Given the description of an element on the screen output the (x, y) to click on. 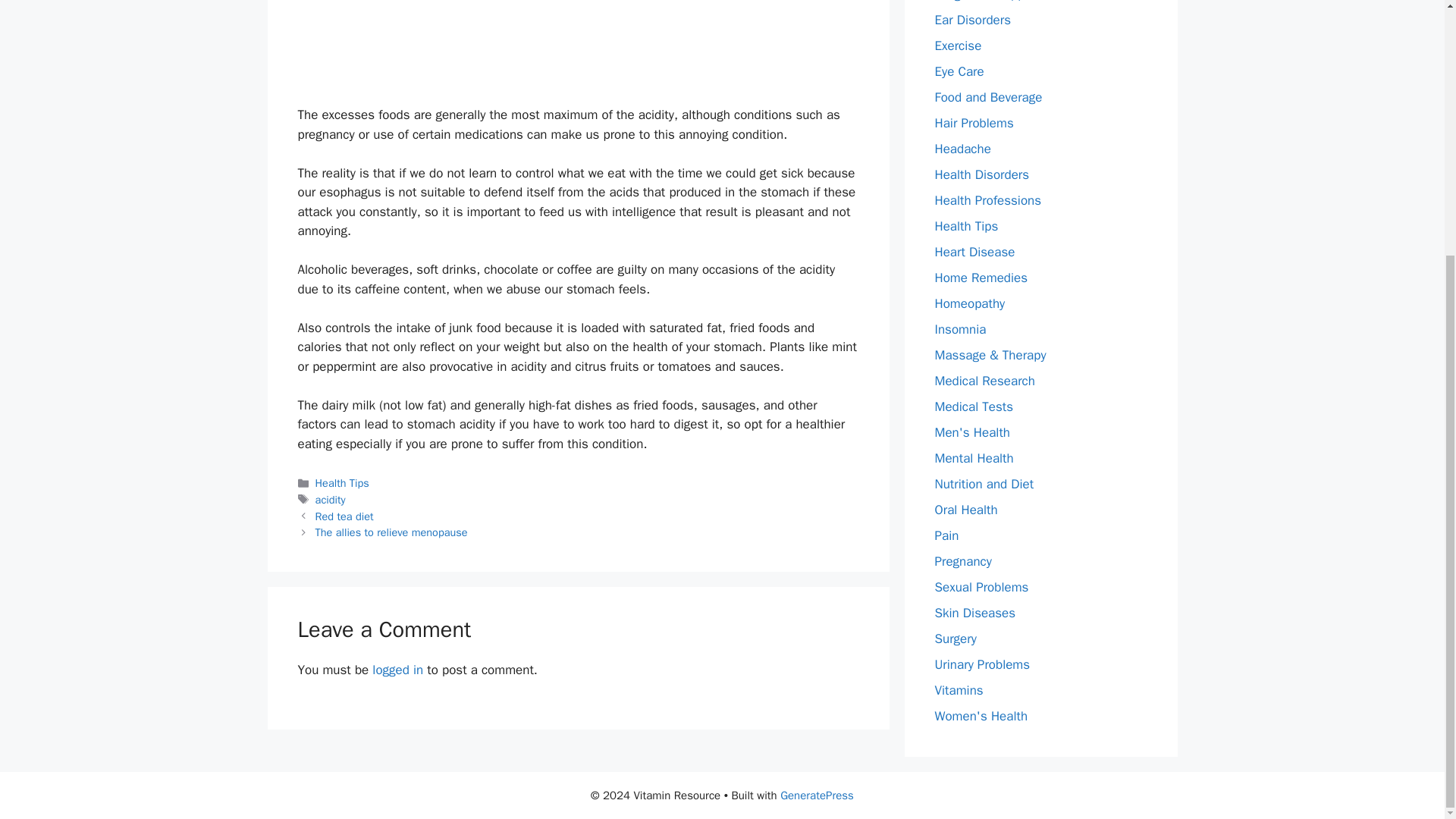
Hair Problems (973, 123)
Exercise (957, 45)
Home Remedies (980, 277)
Drugs and Supplements (1002, 1)
Heart Disease (974, 252)
Health Tips (342, 482)
Insomnia (959, 329)
Homeopathy (969, 303)
Food and Beverage (988, 97)
acidity (578, 43)
acidity (330, 499)
logged in (397, 669)
Headache (962, 148)
Health Professions (987, 200)
Eye Care (959, 71)
